Given the description of an element on the screen output the (x, y) to click on. 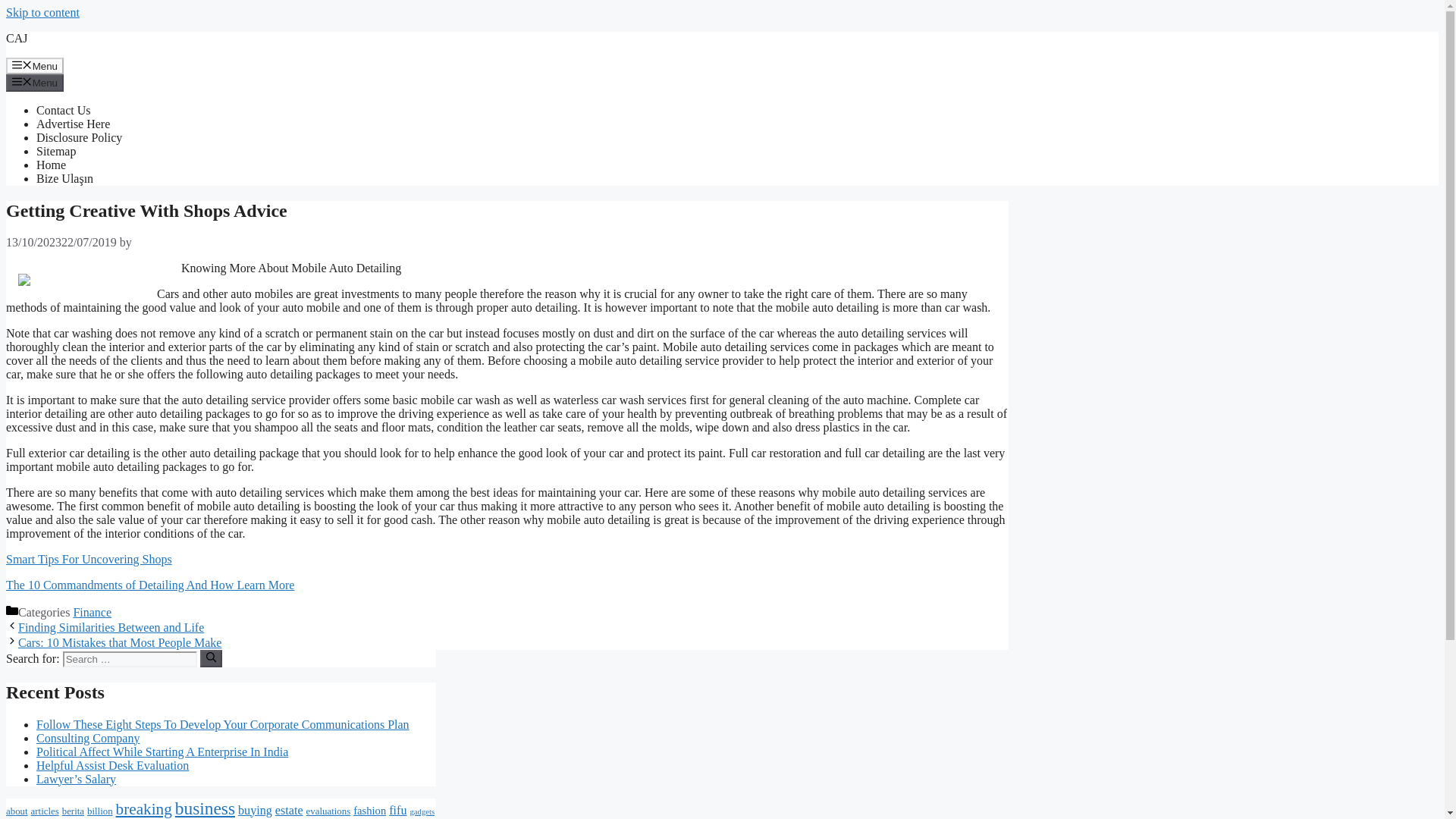
business (204, 808)
Consulting Company (87, 738)
fashion (369, 810)
gadgets (422, 811)
Contact Us (63, 110)
Menu (34, 65)
buying (255, 809)
Finding Similarities Between and Life (110, 626)
Search for: (129, 659)
Helpful Assist Desk Evaluation (112, 765)
berita (73, 810)
evaluations (327, 810)
Political Affect While Starting A Enterprise In India (162, 751)
about (16, 810)
Home (50, 164)
